Given the description of an element on the screen output the (x, y) to click on. 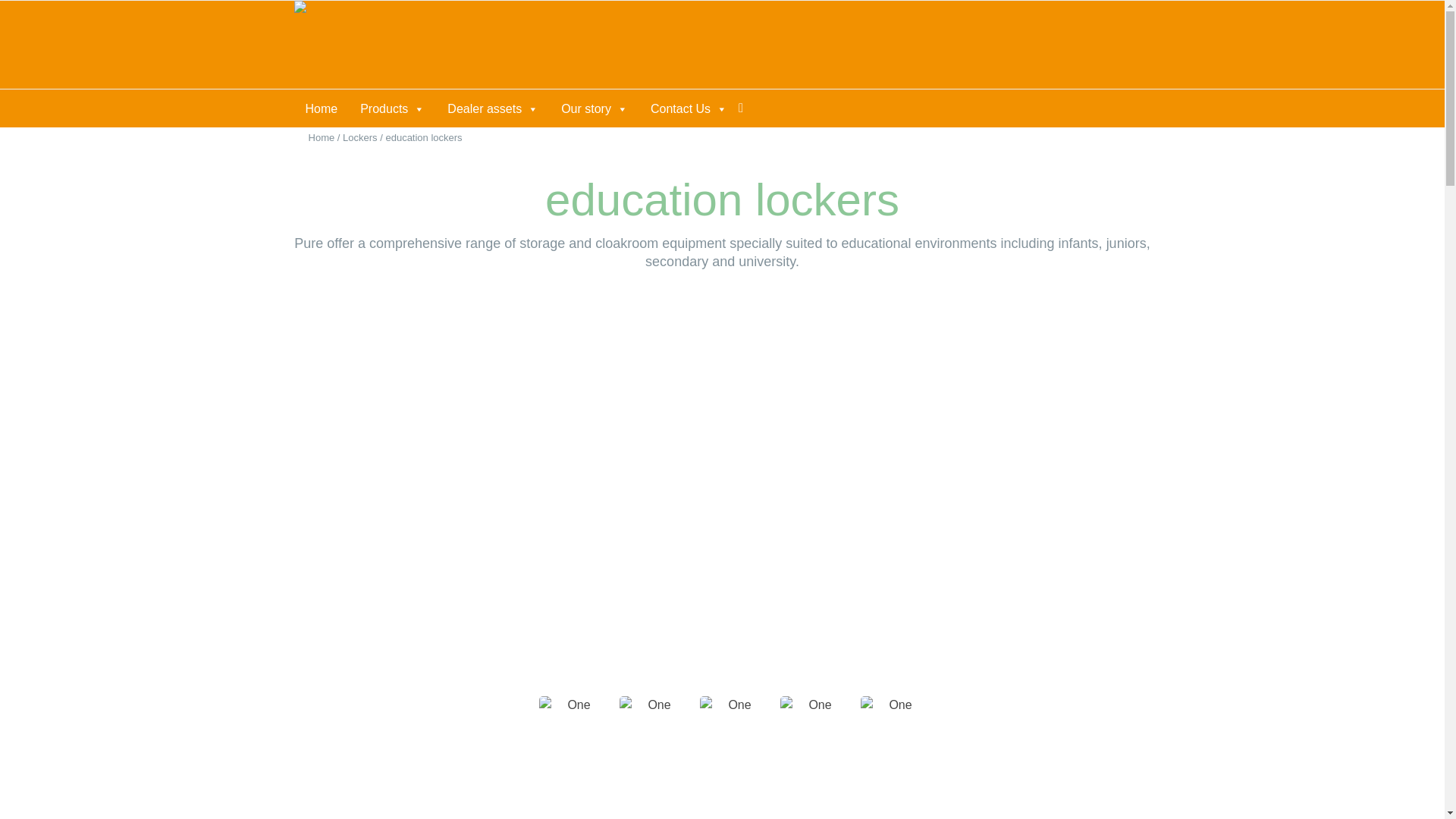
Pure logo web header (335, 44)
Home (321, 109)
Products (392, 109)
Dealer assets (492, 109)
Pure logo web header (335, 14)
Our story (594, 109)
